Given the description of an element on the screen output the (x, y) to click on. 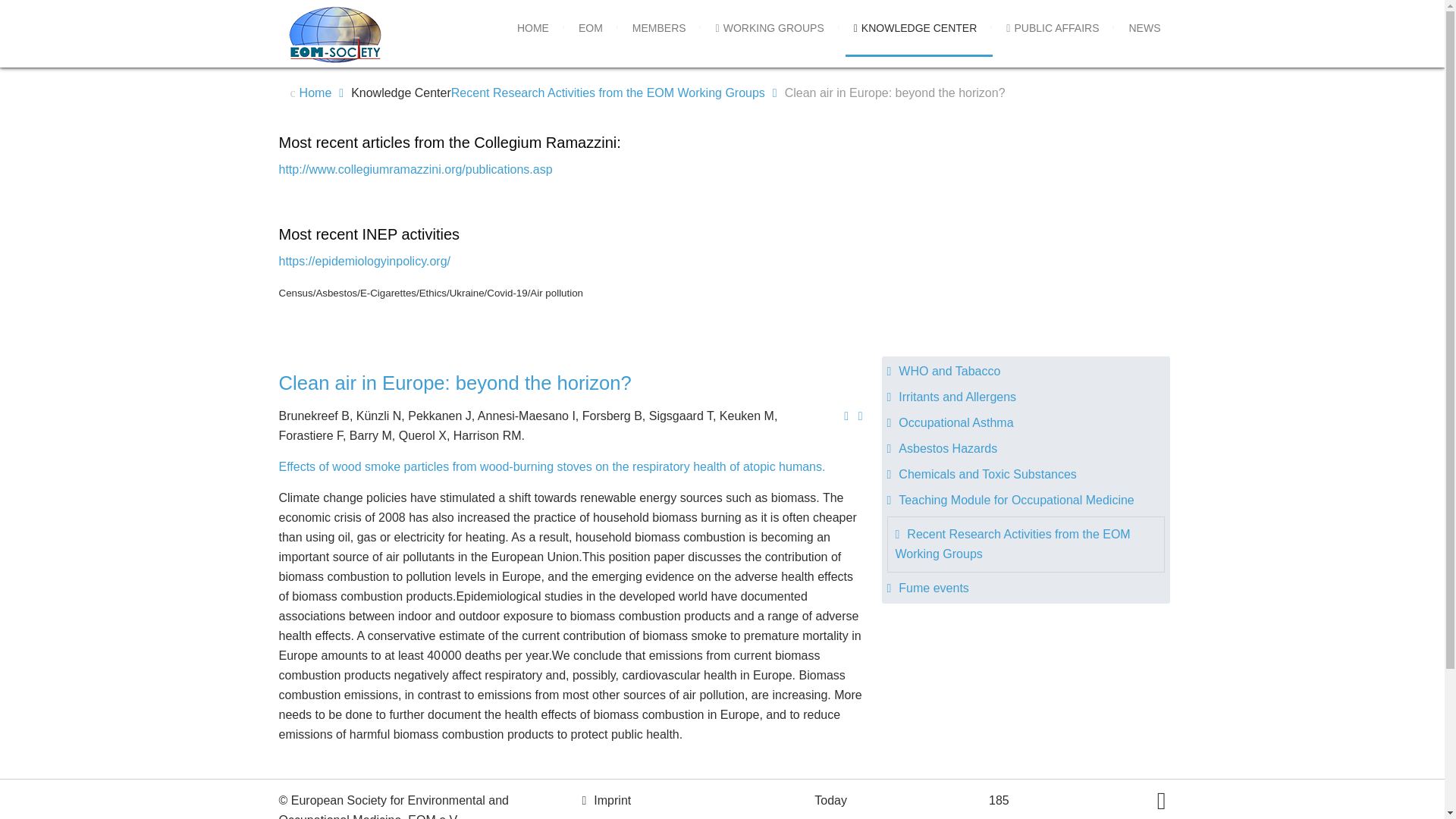
MEMBERS (659, 28)
EOM (590, 28)
HOME (532, 28)
open Website (416, 169)
WORKING GROUPS (769, 28)
PUBLIC AFFAIRS (1052, 28)
KNOWLEDGE CENTER (915, 28)
open Website (365, 260)
open Website (552, 466)
NEWS (1144, 28)
